Given the description of an element on the screen output the (x, y) to click on. 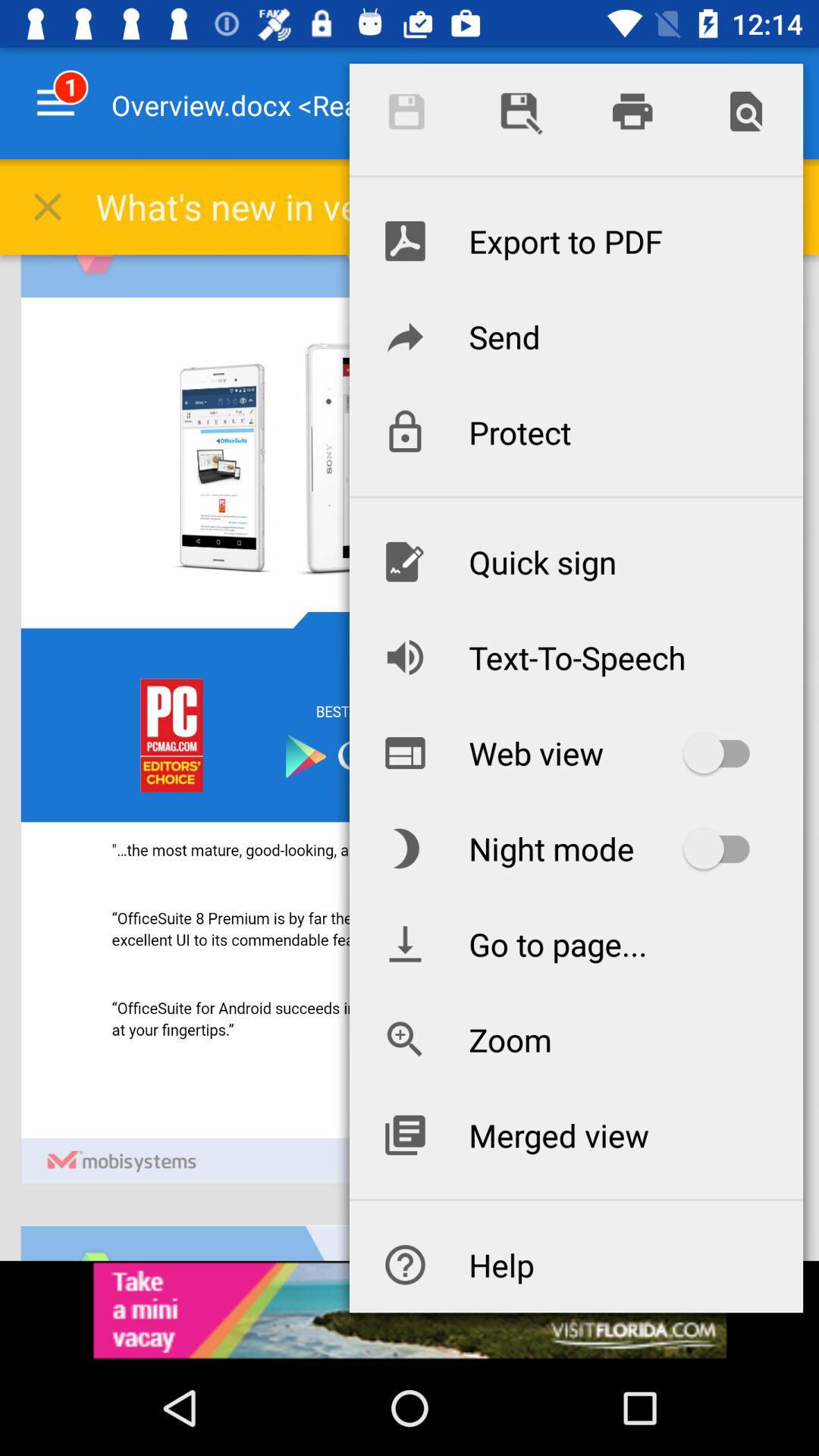
turn on item below the send item (576, 432)
